Given the description of an element on the screen output the (x, y) to click on. 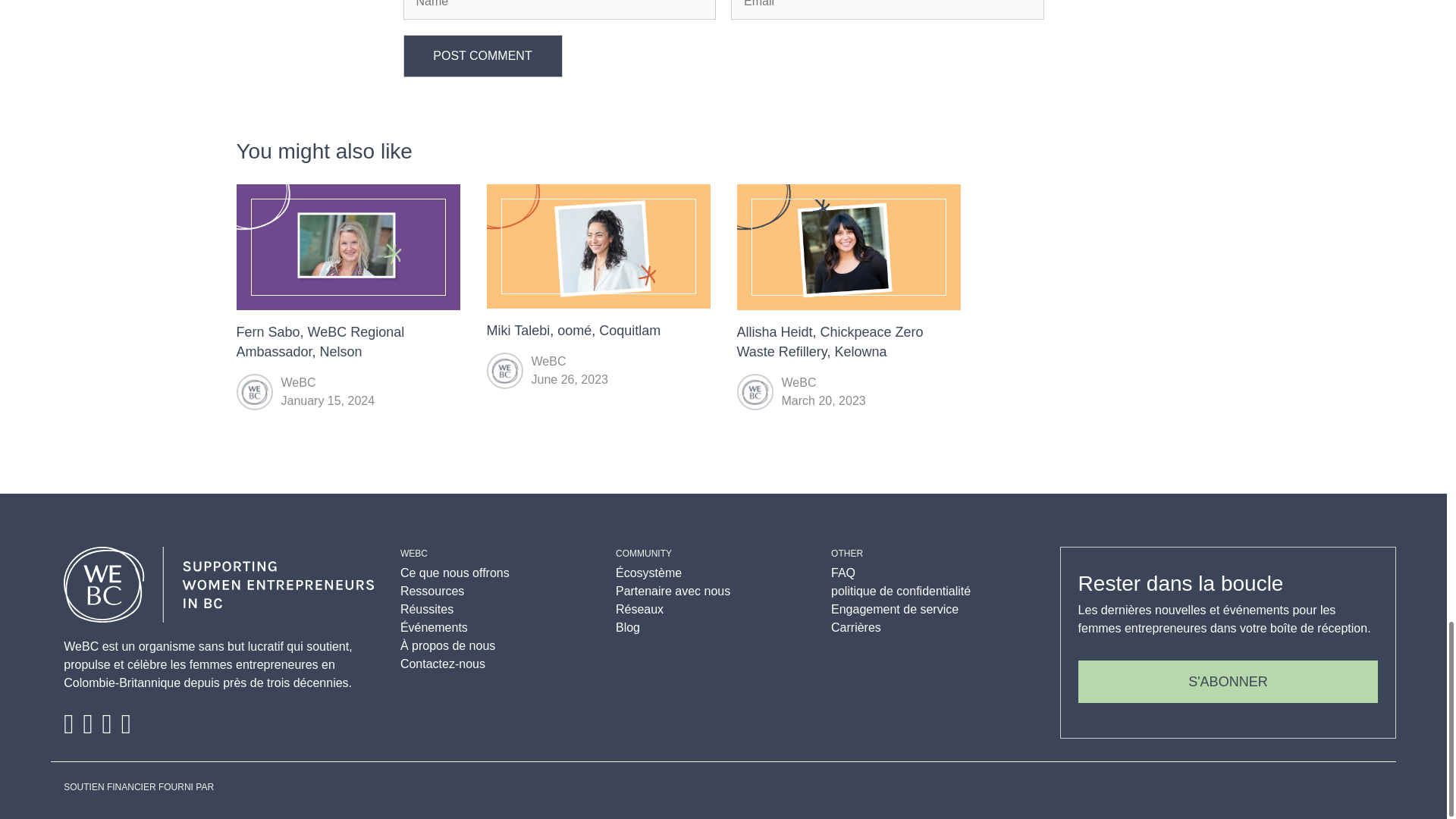
Post Comment (482, 55)
